Given the description of an element on the screen output the (x, y) to click on. 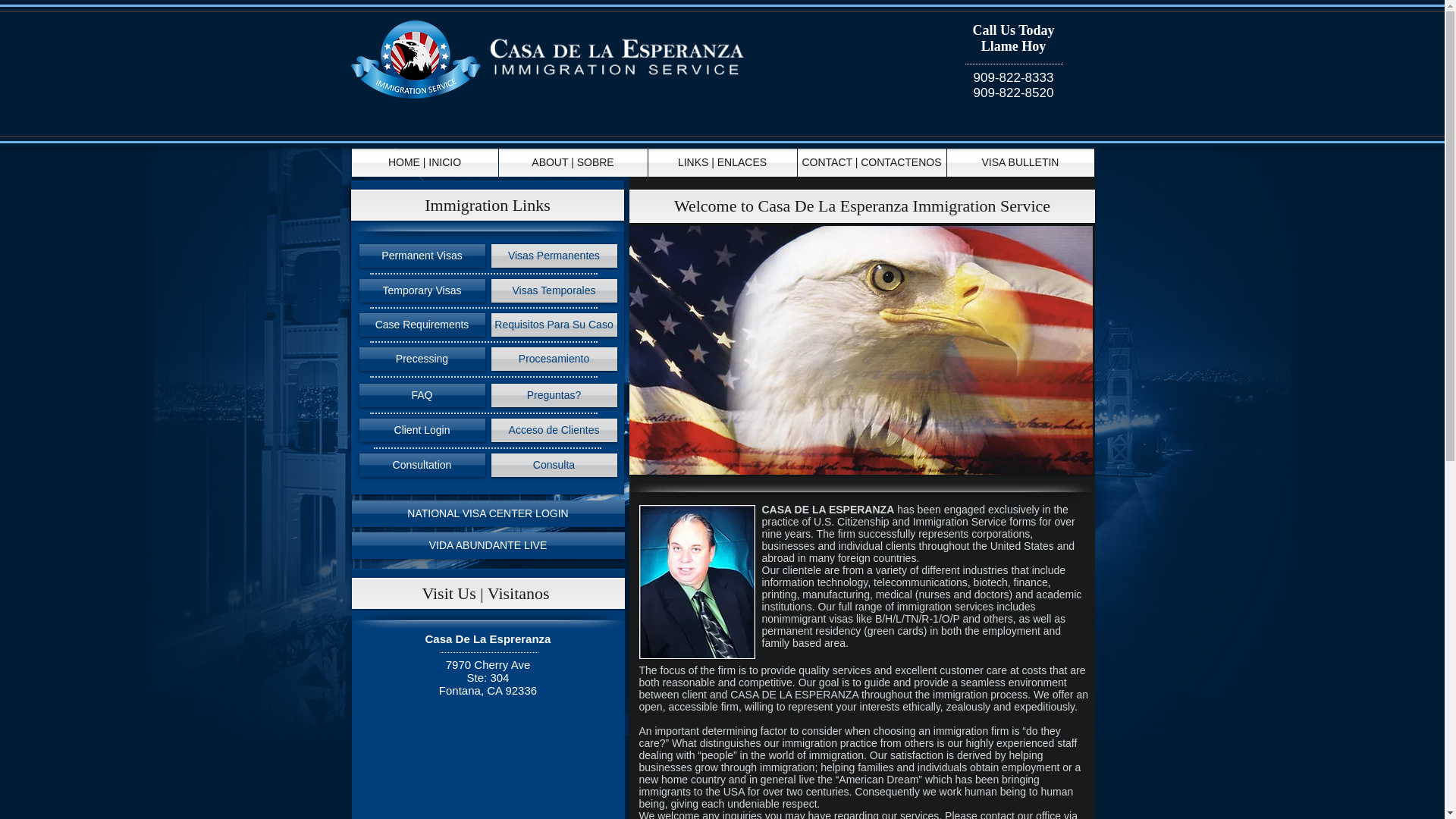
Client Login (421, 430)
Acceso de Clientes (554, 430)
Consultation (421, 464)
Case Requirements (421, 324)
Procesamiento (554, 359)
VIDA ABUNDANTE LIVE (488, 545)
VISA BULLETIN (1019, 162)
FAQ (421, 395)
Requisitos Para Su Caso (554, 324)
Consulta (554, 464)
